Given the description of an element on the screen output the (x, y) to click on. 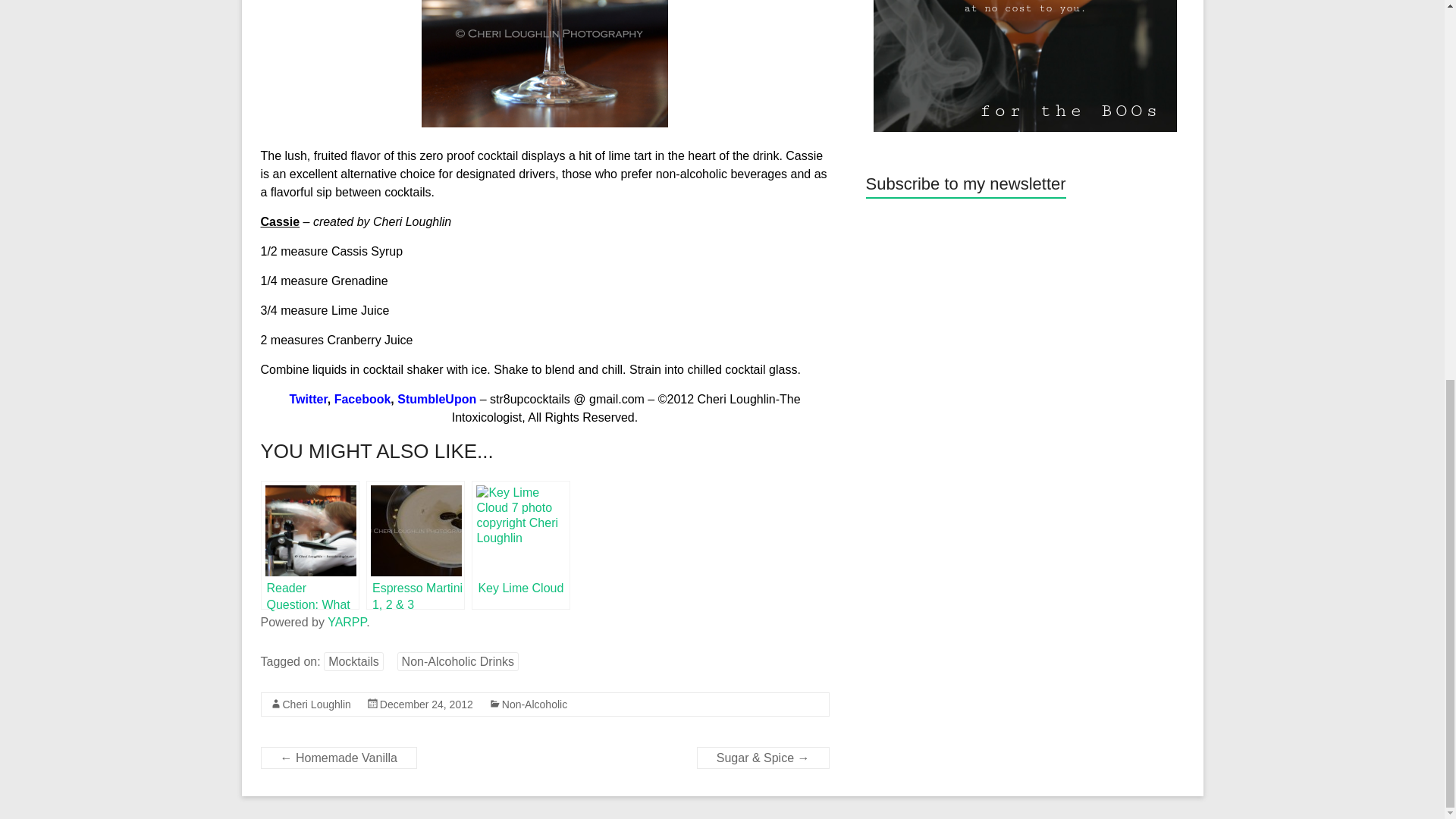
Reader Question: What to Make with Sambuca (309, 544)
Cassie 7 photo copyright Cheri Loughlin (545, 63)
